Given the description of an element on the screen output the (x, y) to click on. 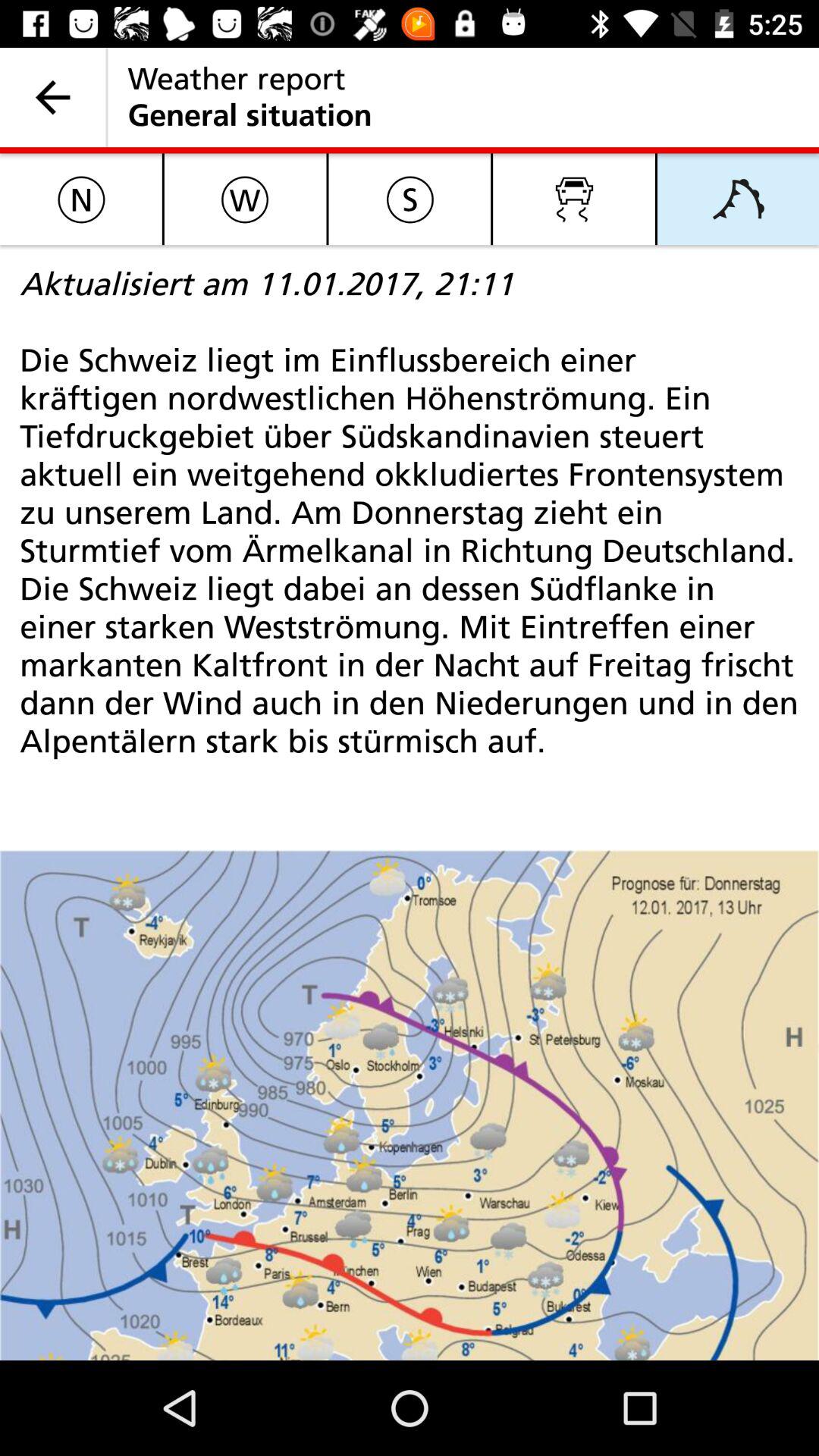
press item above the aktualisiert am 11 item (574, 199)
